Given the description of an element on the screen output the (x, y) to click on. 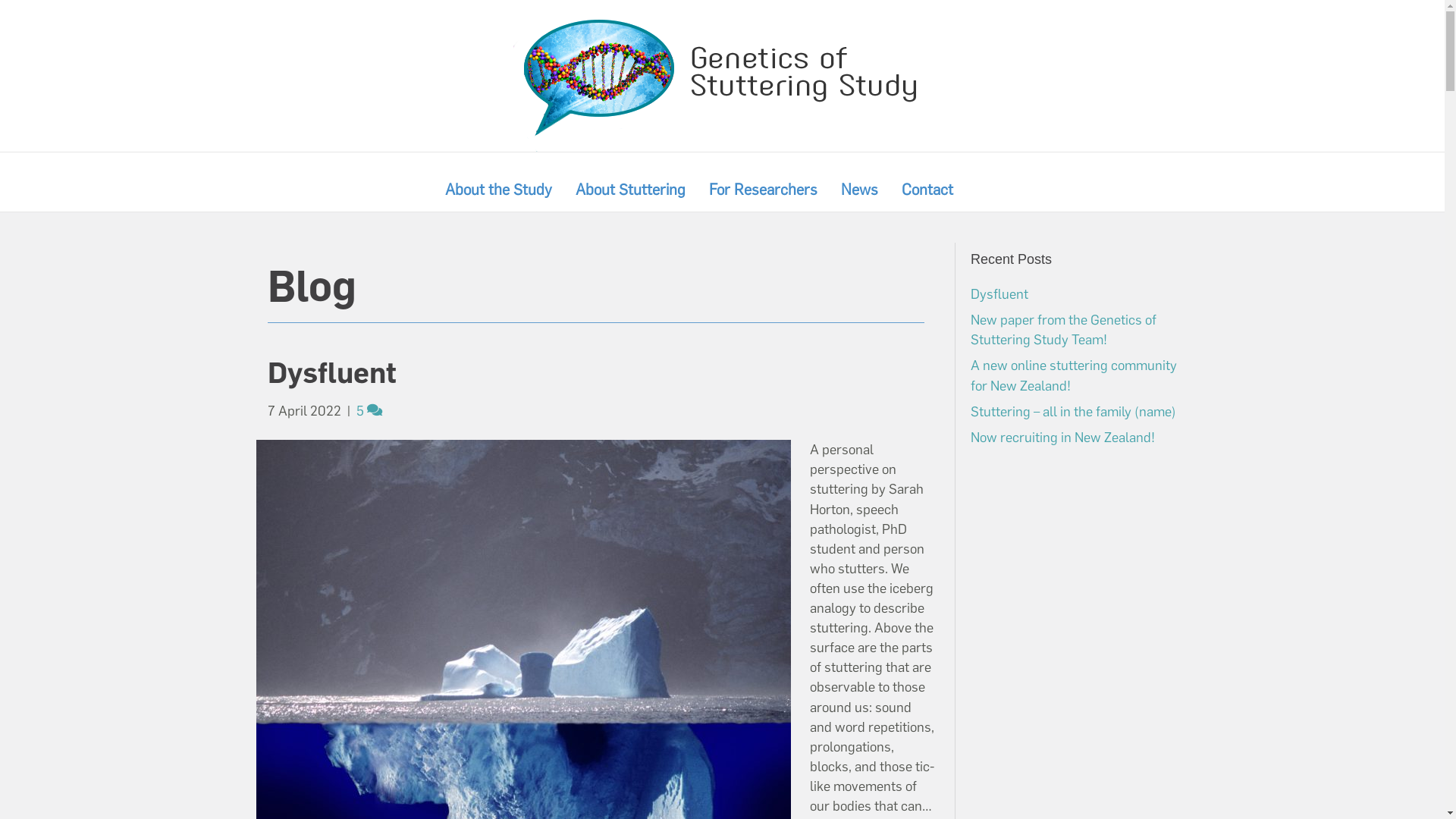
Contact Element type: text (927, 189)
About the Study Element type: text (498, 189)
A new online stuttering community for New Zealand! Element type: text (1073, 375)
Now recruiting in New Zealand! Element type: text (1062, 437)
News Element type: text (859, 189)
For Researchers Element type: text (763, 189)
About Stuttering Element type: text (630, 189)
Dysfluent Element type: text (330, 372)
New paper from the Genetics of Stuttering Study Team! Element type: text (1063, 329)
5 Element type: text (369, 410)
Dysfluent Element type: text (999, 293)
